Given the description of an element on the screen output the (x, y) to click on. 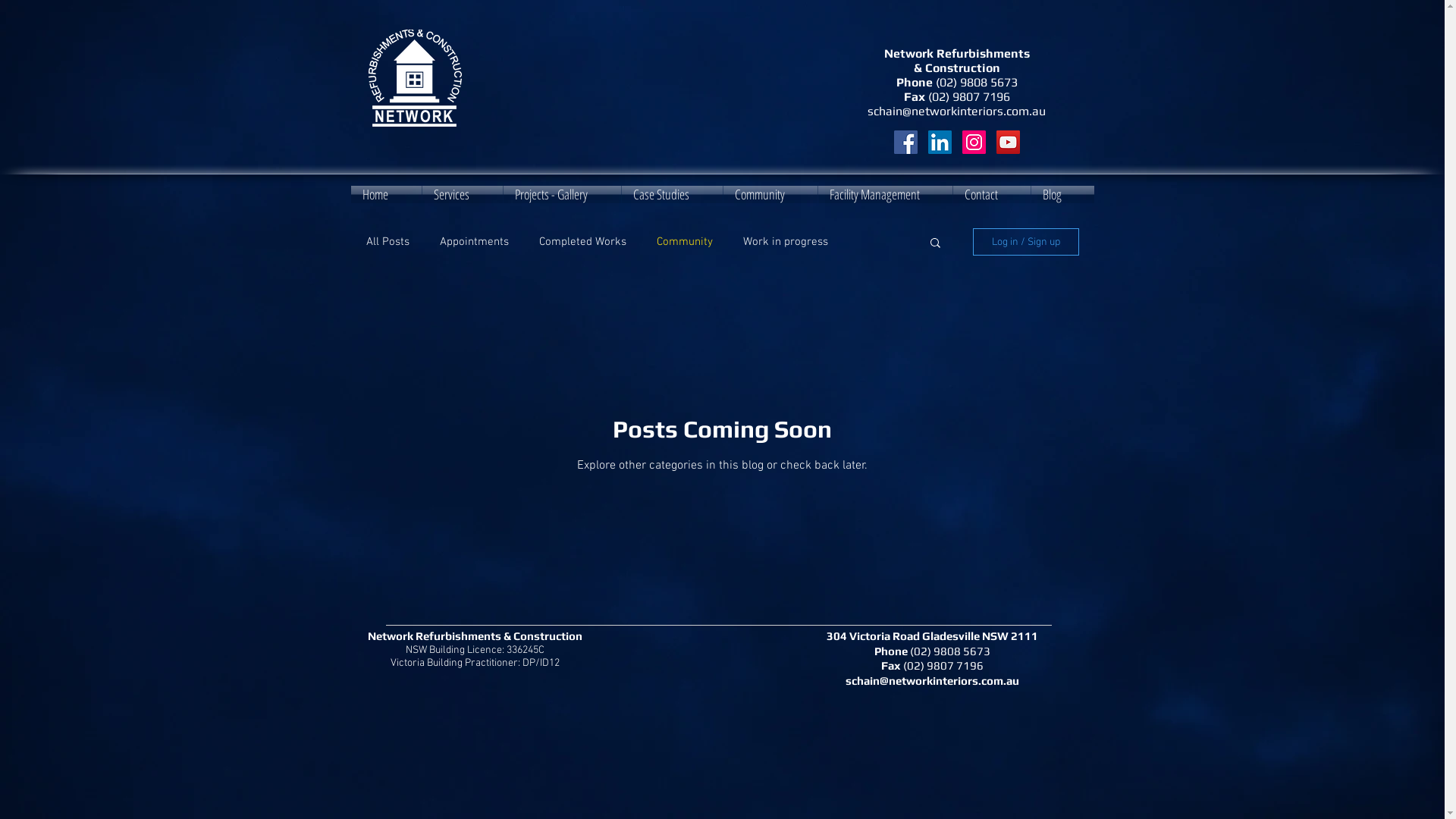
Log in / Sign up Element type: text (1025, 241)
Newtwork web.png Element type: hover (414, 77)
Blog Element type: text (1062, 194)
Community Element type: text (770, 194)
Work in progress Element type: text (785, 241)
Home Element type: text (385, 194)
Case Studies Element type: text (671, 194)
Completed Works Element type: text (581, 241)
Community Element type: text (684, 241)
schain@networkinteriors.com.au Element type: text (932, 679)
Facility Management Element type: text (884, 194)
All Posts Element type: text (386, 241)
Projects - Gallery Element type: text (562, 194)
schain@networkinteriors.com.au Element type: text (956, 110)
Contact Element type: text (990, 194)
Services Element type: text (461, 194)
Appointments Element type: text (473, 241)
